Given the description of an element on the screen output the (x, y) to click on. 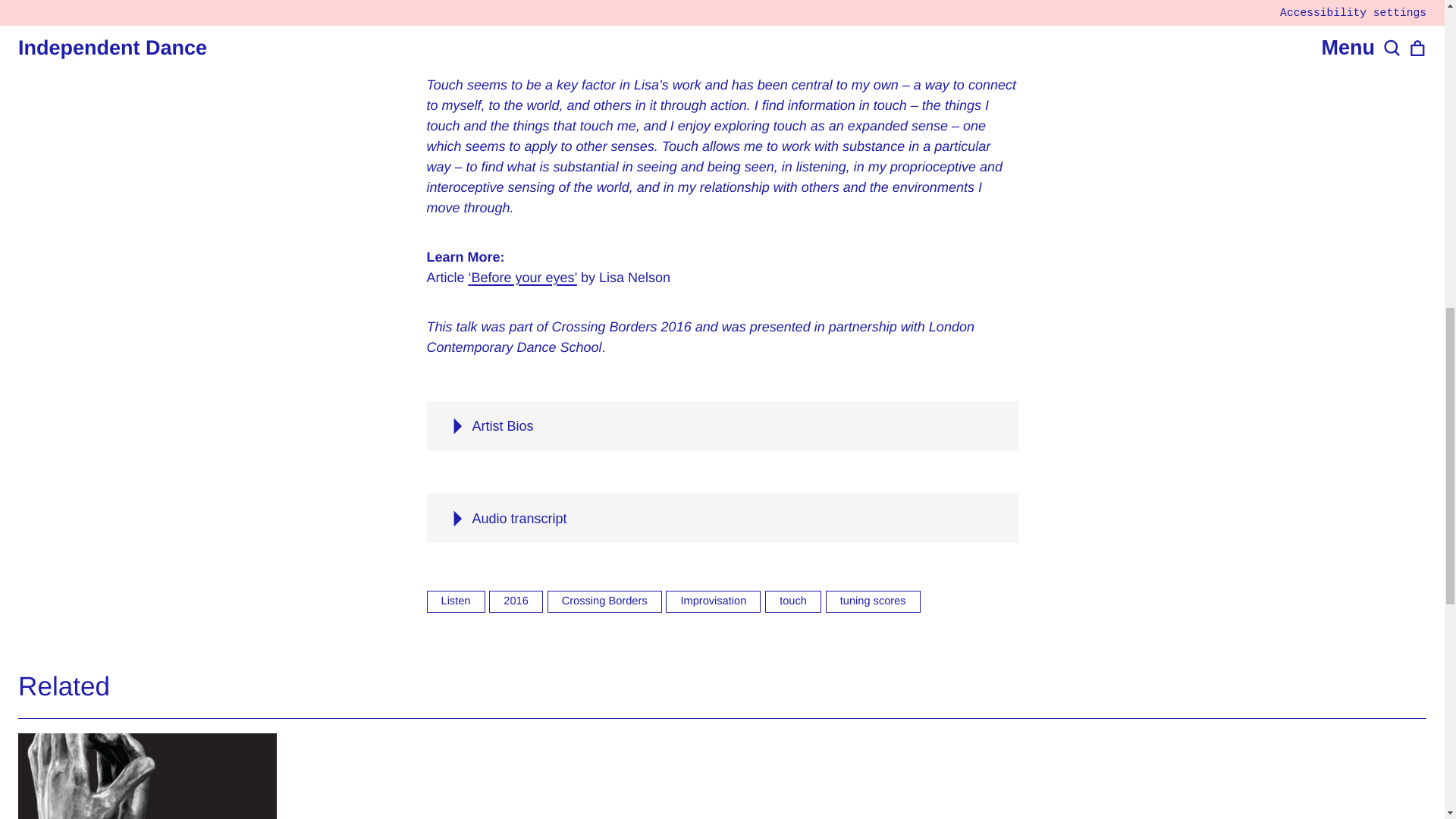
View all entries tagged with 2016 (516, 601)
View all entries tagged with Listen (455, 601)
